Given the description of an element on the screen output the (x, y) to click on. 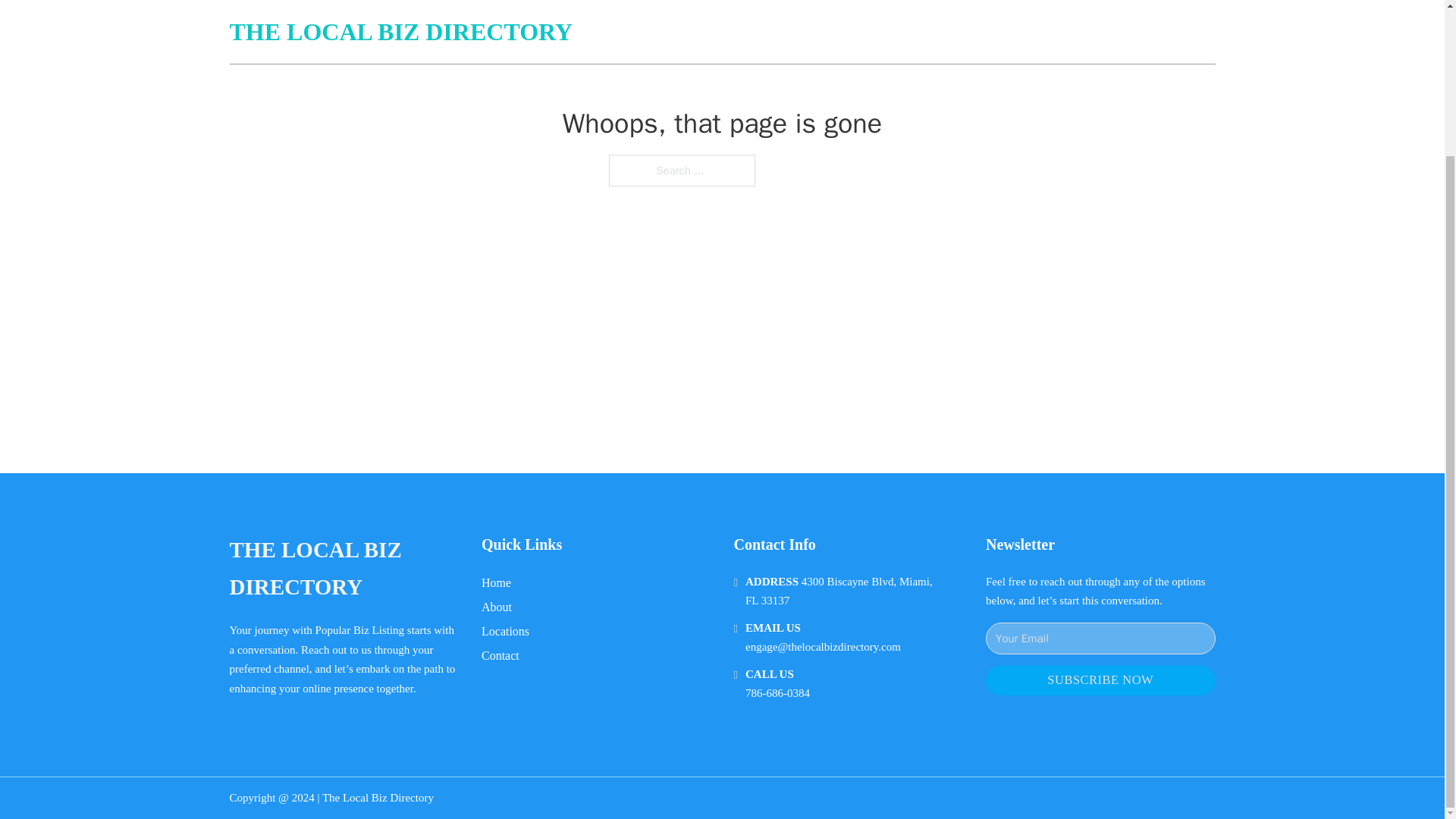
Home (496, 582)
About (496, 607)
Contact (500, 655)
786-686-0384 (777, 693)
SUBSCRIBE NOW (1100, 680)
THE LOCAL BIZ DIRECTORY (343, 568)
Locations (505, 630)
